Given the description of an element on the screen output the (x, y) to click on. 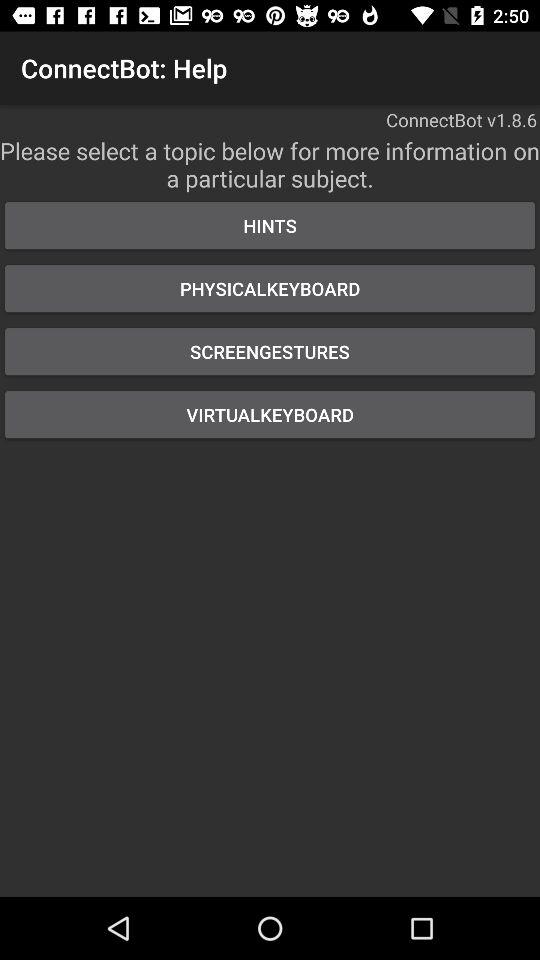
turn off the icon below the hints icon (270, 288)
